Given the description of an element on the screen output the (x, y) to click on. 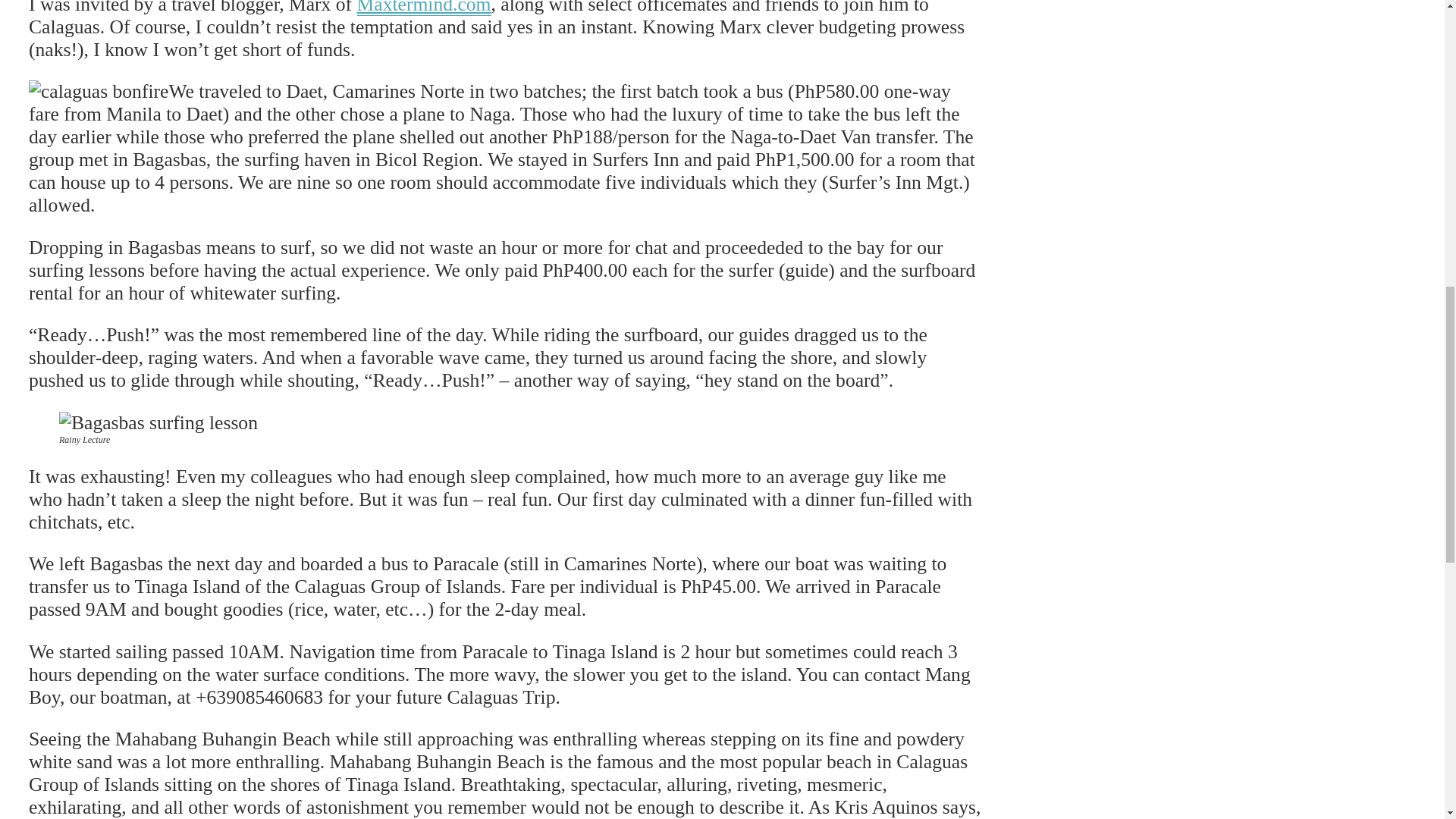
Marxtermind (424, 7)
